Given the description of an element on the screen output the (x, y) to click on. 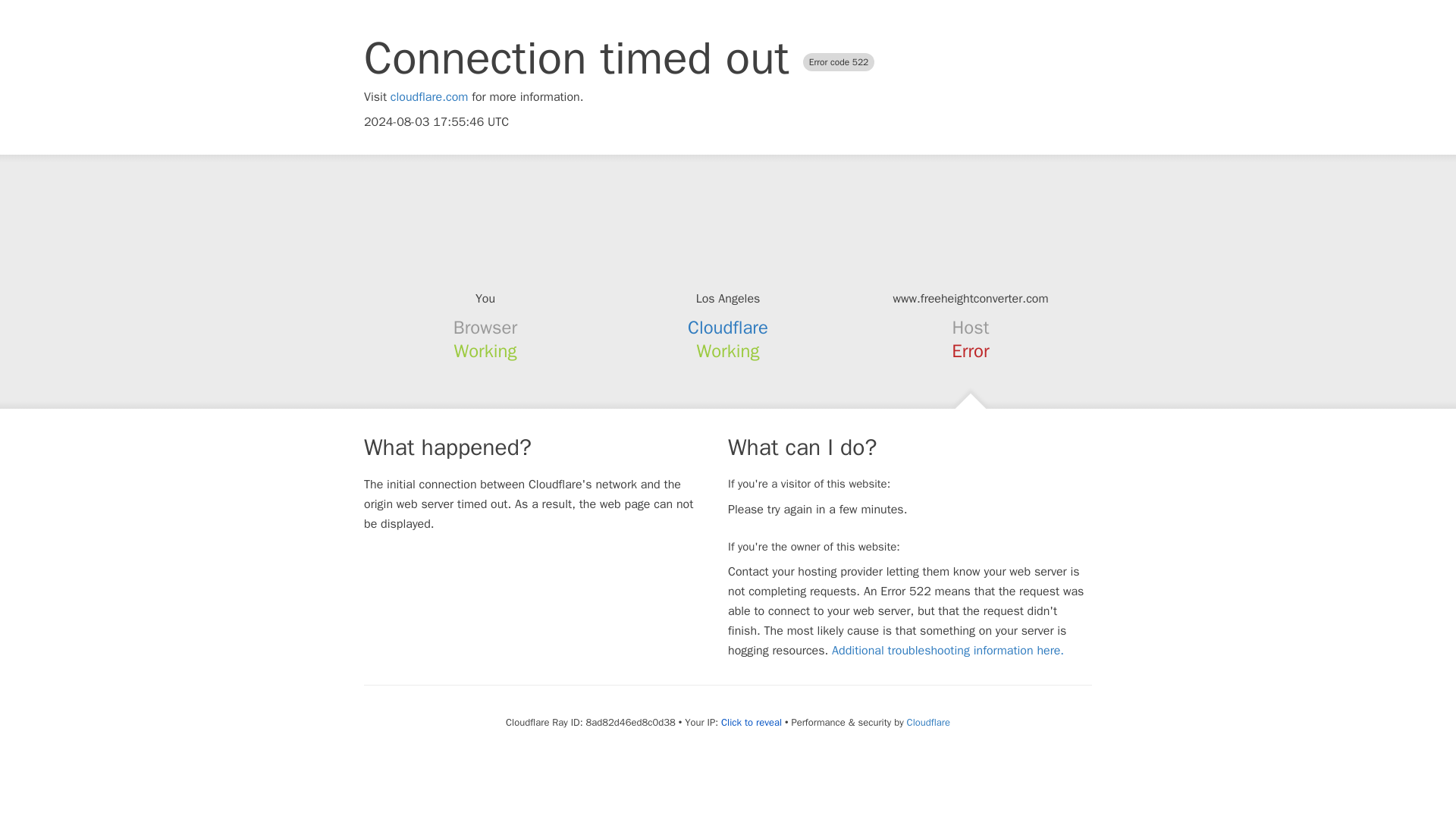
Cloudflare (928, 721)
Click to reveal (750, 722)
Cloudflare (727, 327)
cloudflare.com (429, 96)
Additional troubleshooting information here. (947, 650)
